Given the description of an element on the screen output the (x, y) to click on. 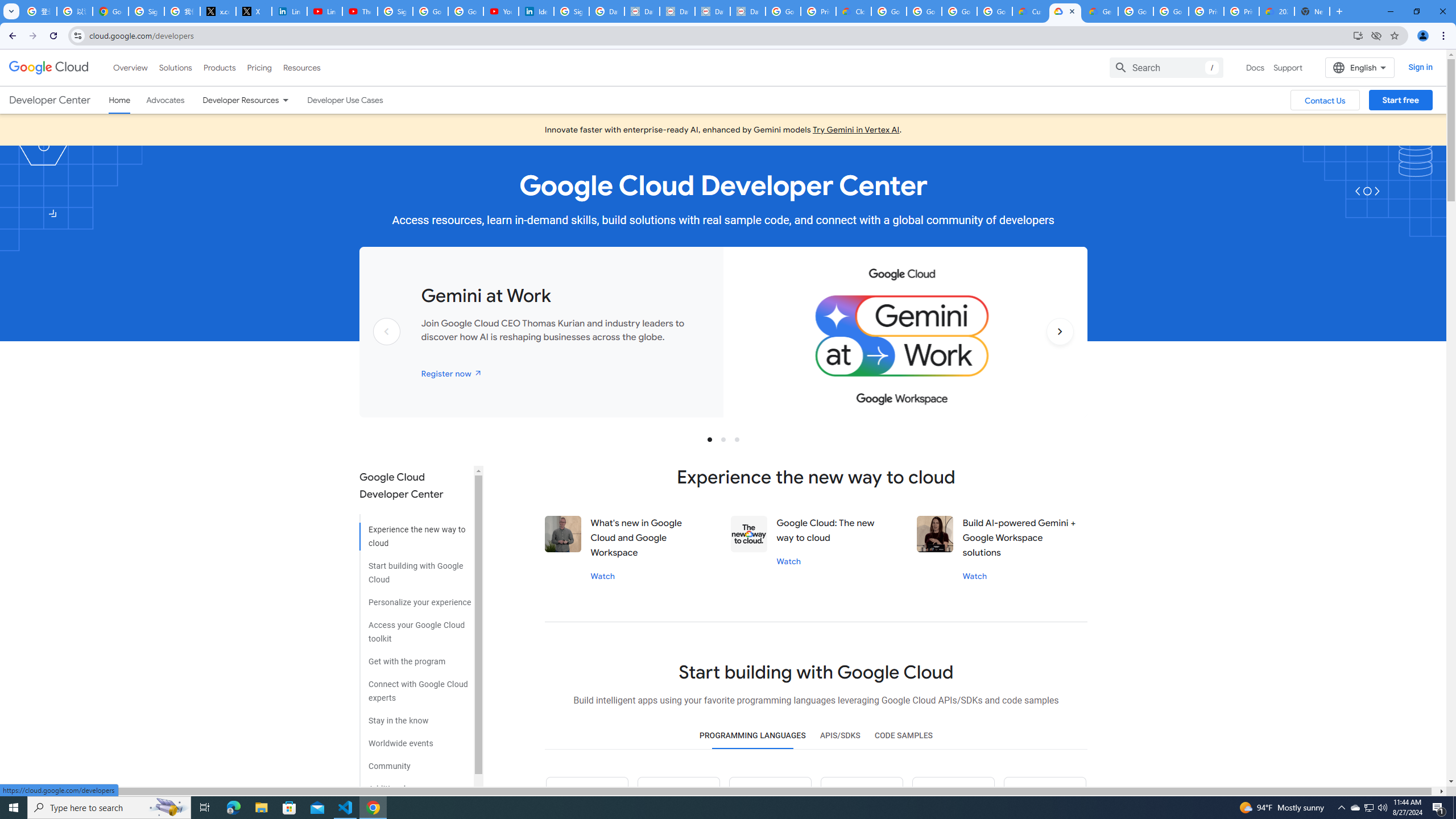
Resources (301, 67)
Ruby icon (860, 798)
Data value (748, 533)
Python icon (587, 798)
CODE SAMPLES (903, 735)
Pricing (259, 67)
Try Gemini in Vertex AI (855, 129)
Docs (1254, 67)
Data Privacy Framework (712, 11)
Previous slide (386, 349)
Experience the new way to cloud (415, 532)
Third-party cookies blocked (1376, 35)
Contact Us (1324, 100)
